Given the description of an element on the screen output the (x, y) to click on. 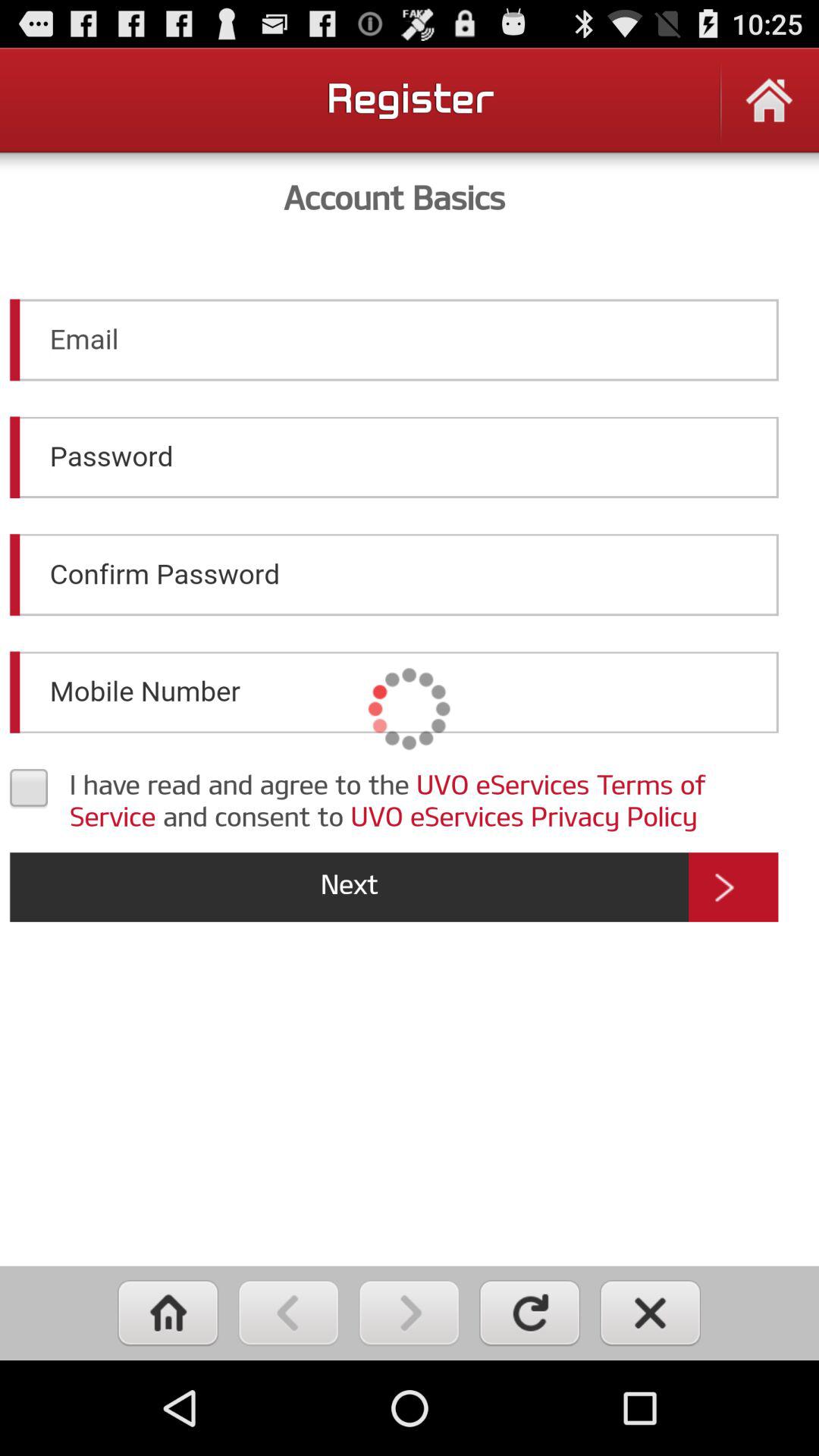
enter account basics (409, 708)
